Given the description of an element on the screen output the (x, y) to click on. 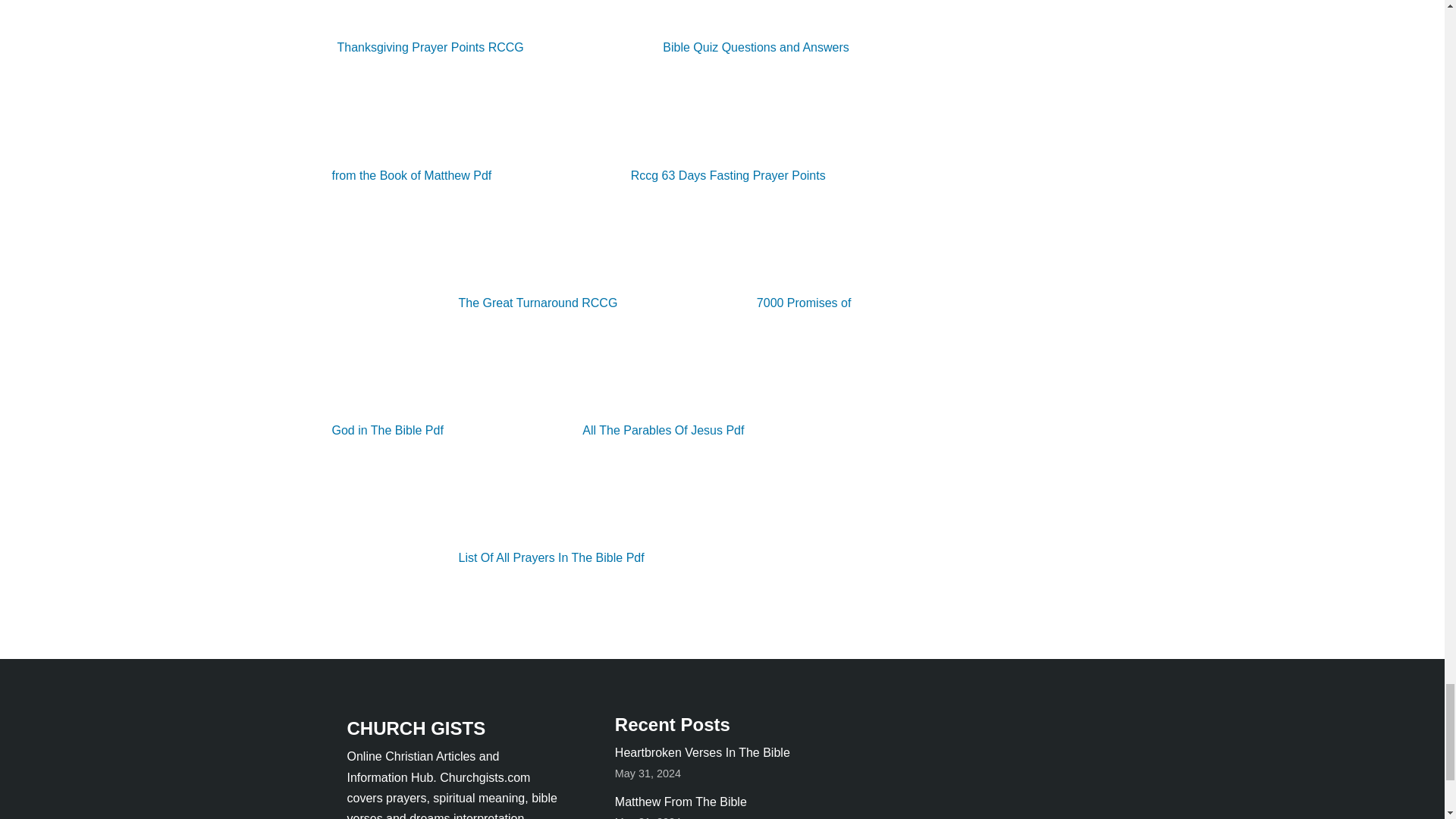
Matthew From The Bible (680, 801)
List Of All Prayers In The Bible Pdf (490, 557)
Rccg 63 Days Fasting Prayer Points (667, 174)
The Great Turnaround RCCG (477, 302)
Thanksgiving Prayer Points RCCG (599, 27)
7000 Promises of God in The Bible Pdf (591, 366)
Thanksgiving Prayer Points RCCG (599, 27)
Heartbroken Verses In The Bible (702, 752)
All The Parables Of Jesus Pdf (602, 430)
7000 Promises of God in The Bible Pdf (591, 366)
